Given the description of an element on the screen output the (x, y) to click on. 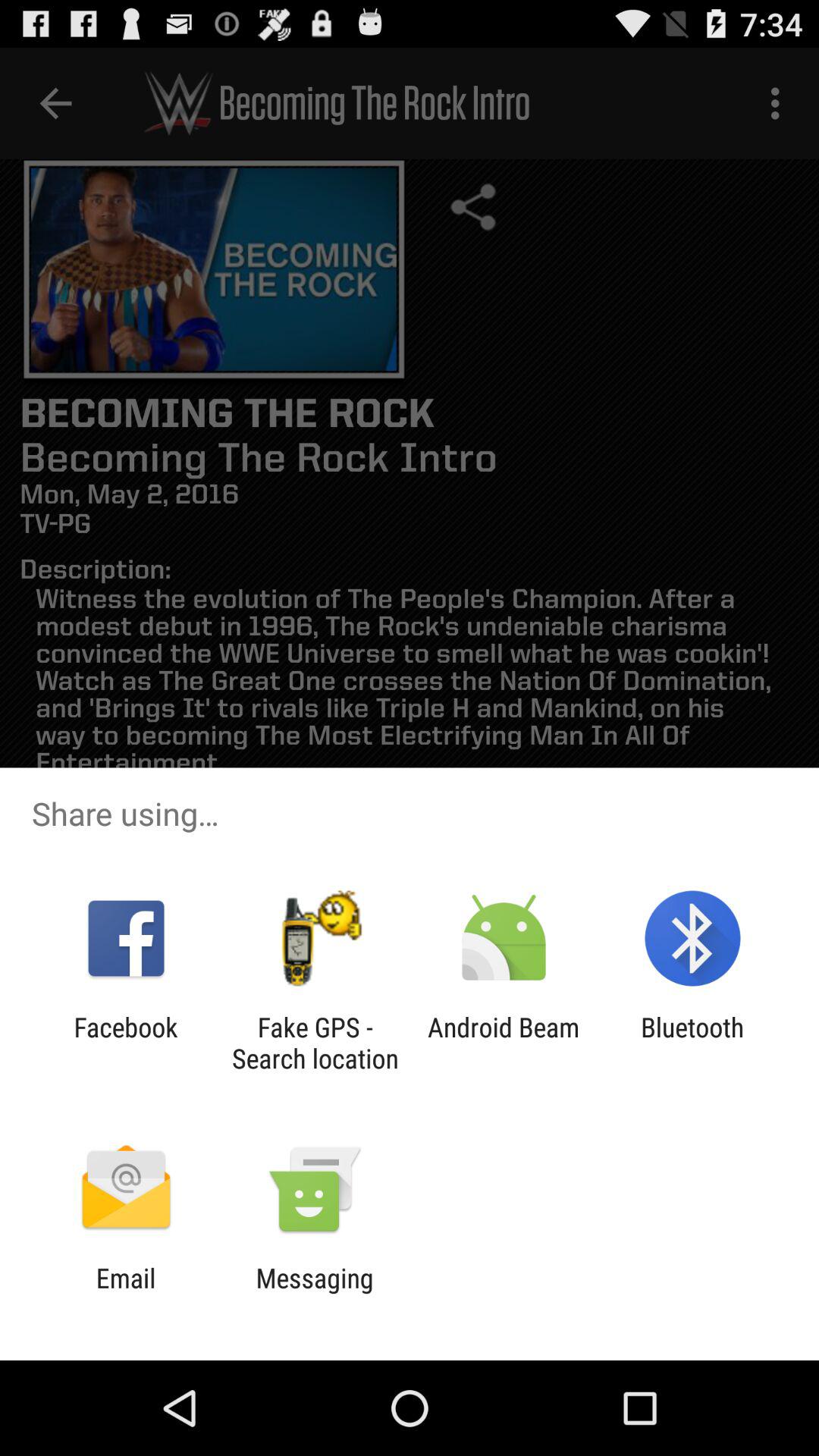
open app to the left of the bluetooth app (503, 1042)
